Given the description of an element on the screen output the (x, y) to click on. 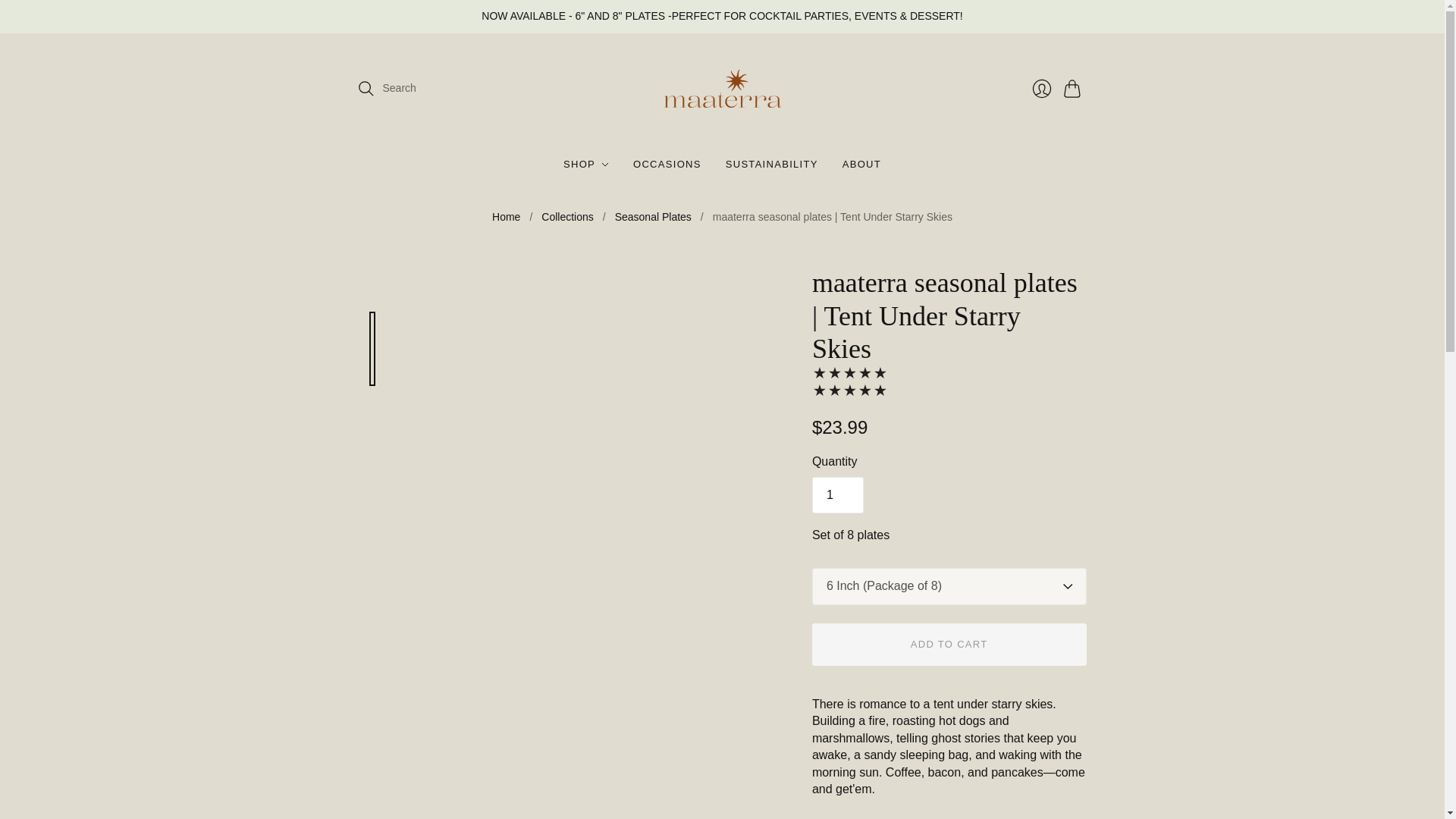
ADD TO CART (949, 644)
Login (1041, 88)
Home (505, 217)
Collections (566, 217)
Cart (1074, 88)
1 (837, 494)
OCCASIONS (667, 164)
Seasonal Plates (652, 217)
ABOUT (861, 164)
SUSTAINABILITY (771, 164)
